Given the description of an element on the screen output the (x, y) to click on. 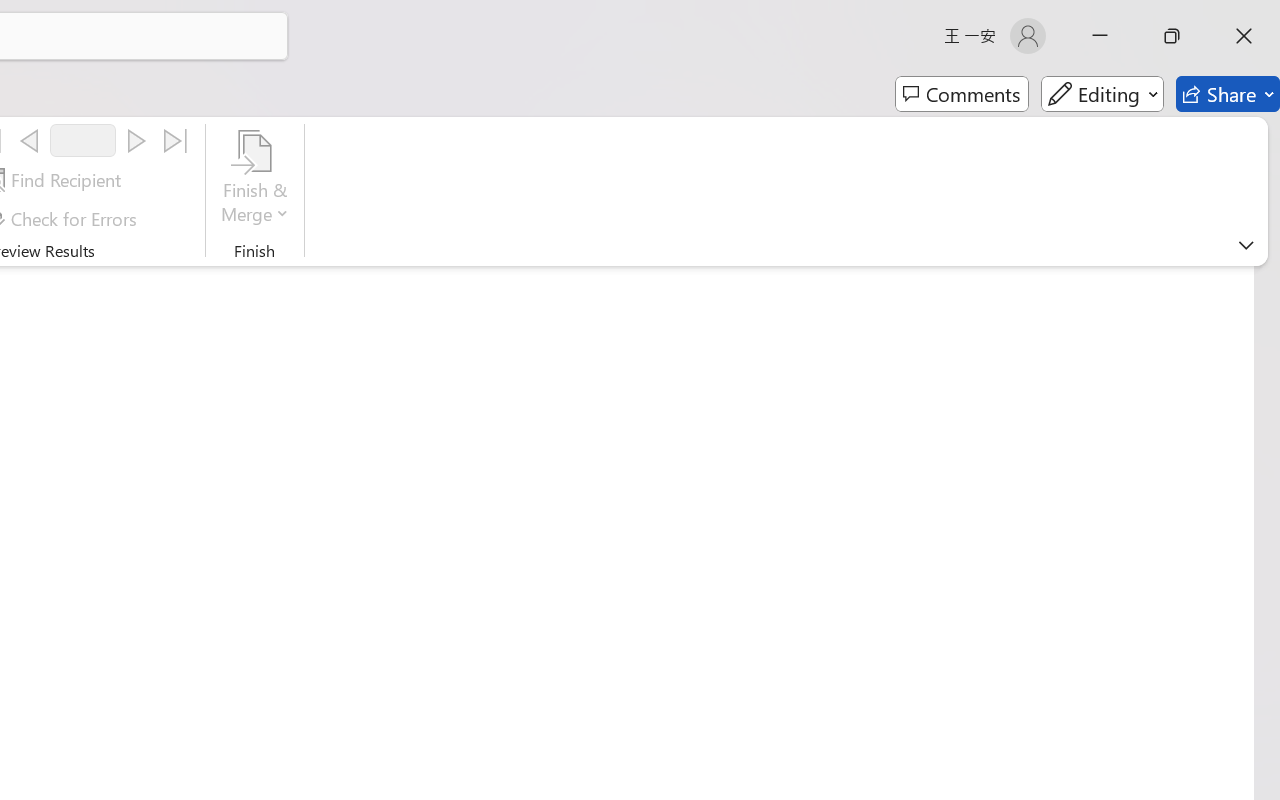
Percent (50, 722)
Auto-detect (1066, 250)
